Given the description of an element on the screen output the (x, y) to click on. 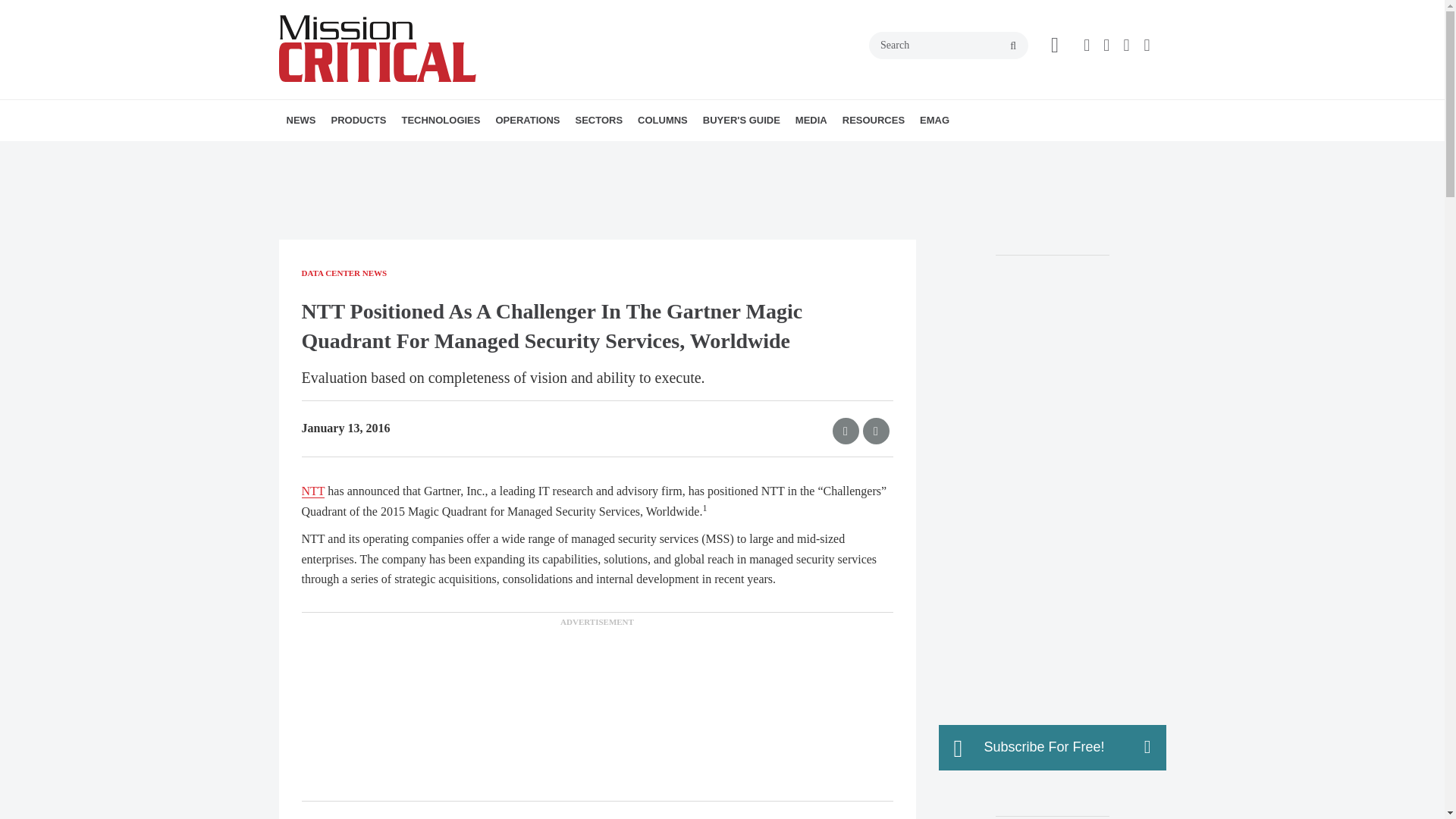
MANAGEMENT (606, 153)
COOLING (522, 153)
INFRASTRUCTURE (488, 153)
twitter (1106, 45)
SITE SELECTION (582, 153)
Search (948, 44)
SUSTAINABILITY (600, 153)
youtube (1146, 45)
POWER (512, 153)
INDUSTRY 4.0 (669, 153)
OPERATIONS (527, 119)
cart (1054, 45)
FACILITY DESIGN (589, 153)
TECHNOLOGIES (440, 119)
CLOUD COMPUTING (516, 153)
